Given the description of an element on the screen output the (x, y) to click on. 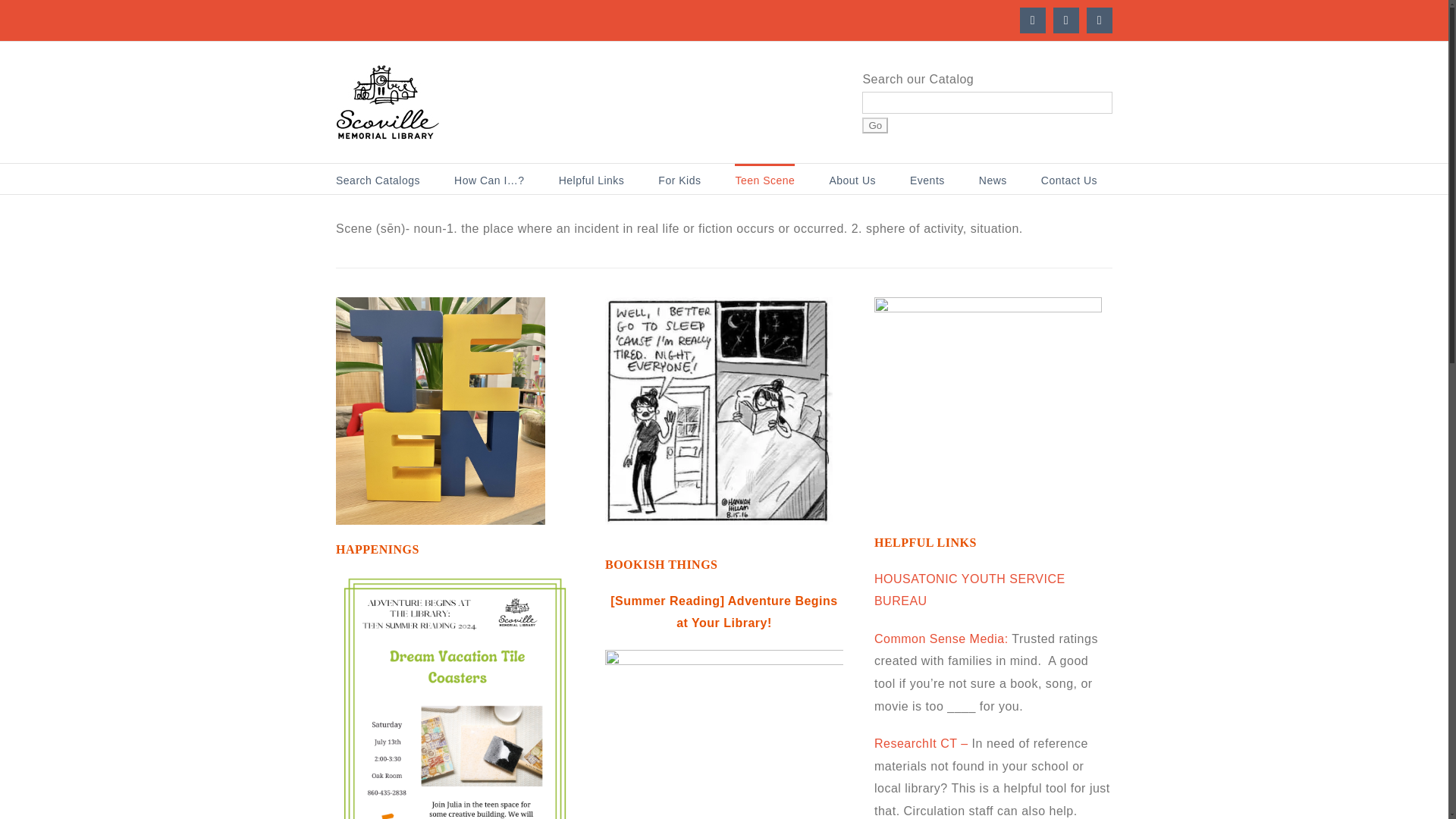
Search Catalogs (378, 178)
Instagram (1065, 20)
Go (874, 125)
Facebook (1032, 20)
Facebook (1032, 20)
About Us (852, 178)
YouTube (1099, 20)
YouTube (1099, 20)
News (992, 178)
For Kids (679, 178)
Helpful Links (591, 178)
Contact Us (1069, 178)
Teen Scene (764, 178)
Go (874, 125)
Events (927, 178)
